Given the description of an element on the screen output the (x, y) to click on. 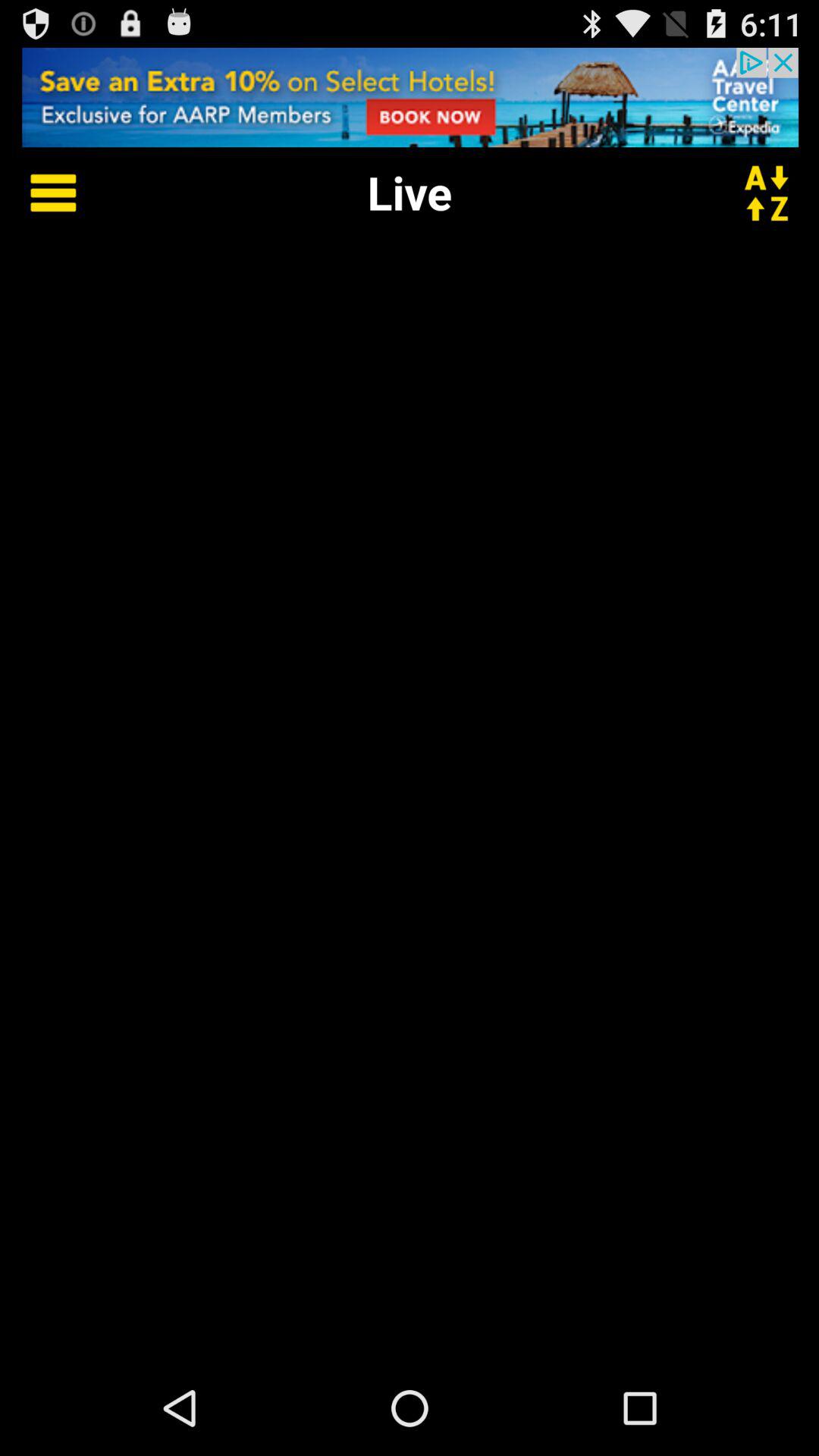
go to alternate page (776, 192)
